Given the description of an element on the screen output the (x, y) to click on. 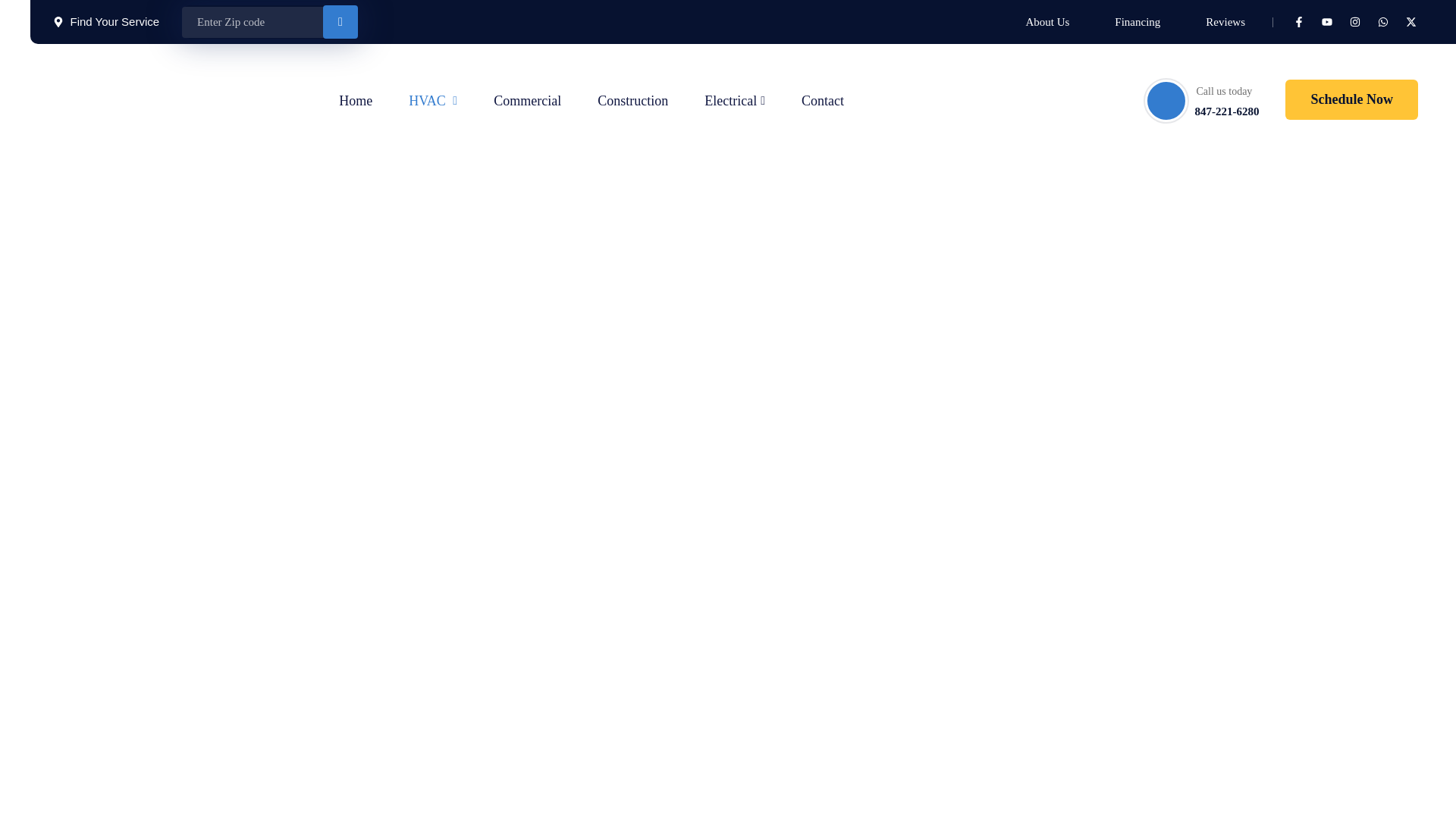
Search (340, 21)
About Us (1046, 22)
Financing (1137, 22)
Reviews (1224, 22)
